Given the description of an element on the screen output the (x, y) to click on. 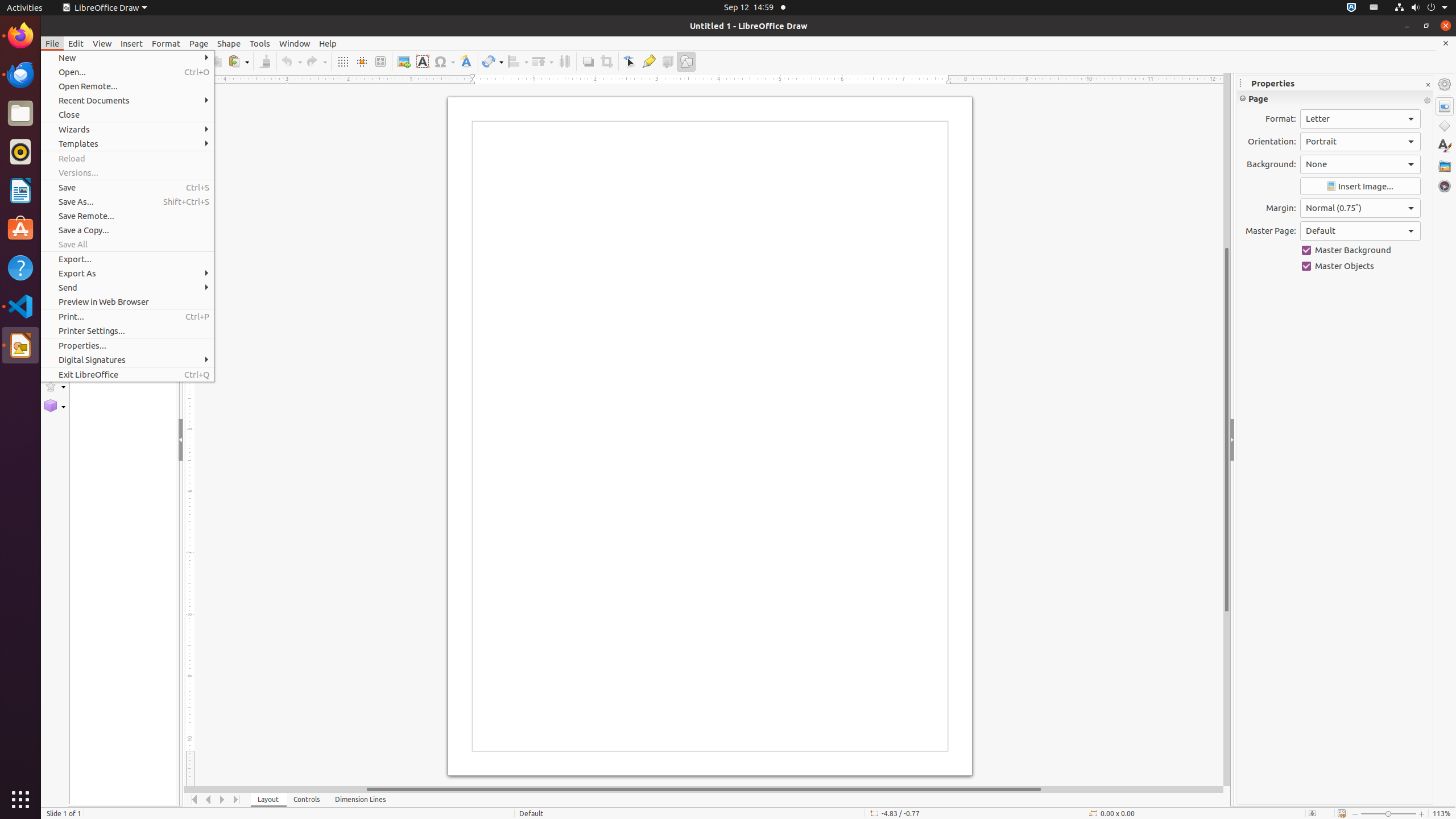
Versions... Element type: menu-item (127, 172)
Image Element type: push-button (403, 61)
Save a Copy... Element type: menu-item (127, 229)
Open... Element type: menu-item (127, 71)
Move To Home Element type: push-button (194, 799)
